Given the description of an element on the screen output the (x, y) to click on. 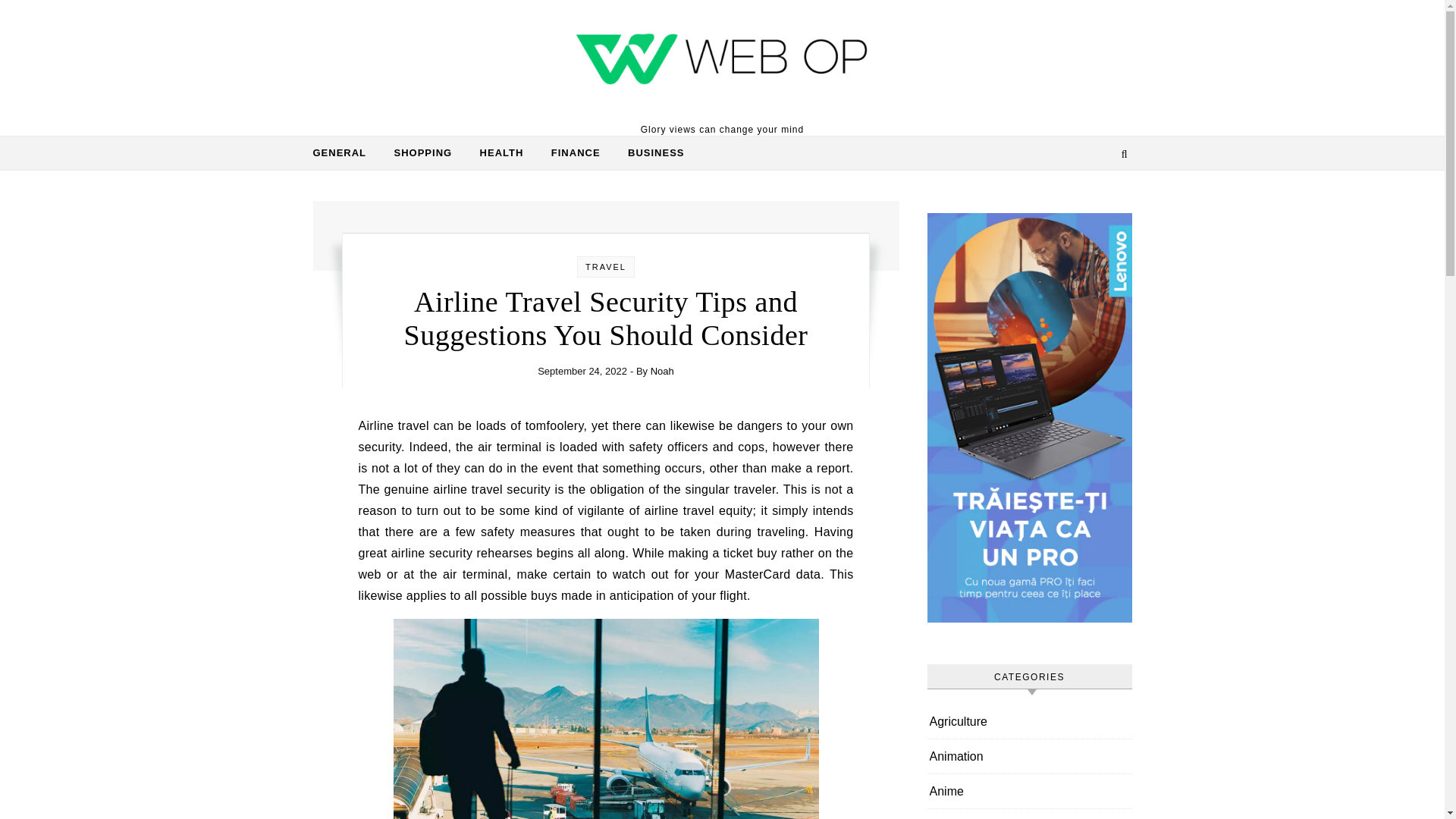
Posts by Noah (662, 370)
Application (959, 814)
FINANCE (575, 152)
GENERAL (345, 152)
BUSINESS (649, 152)
Anime (946, 790)
Web Op (721, 61)
TRAVEL (605, 266)
Agriculture (958, 721)
Noah (662, 370)
HEALTH (501, 152)
Animation (957, 756)
SHOPPING (422, 152)
